Given the description of an element on the screen output the (x, y) to click on. 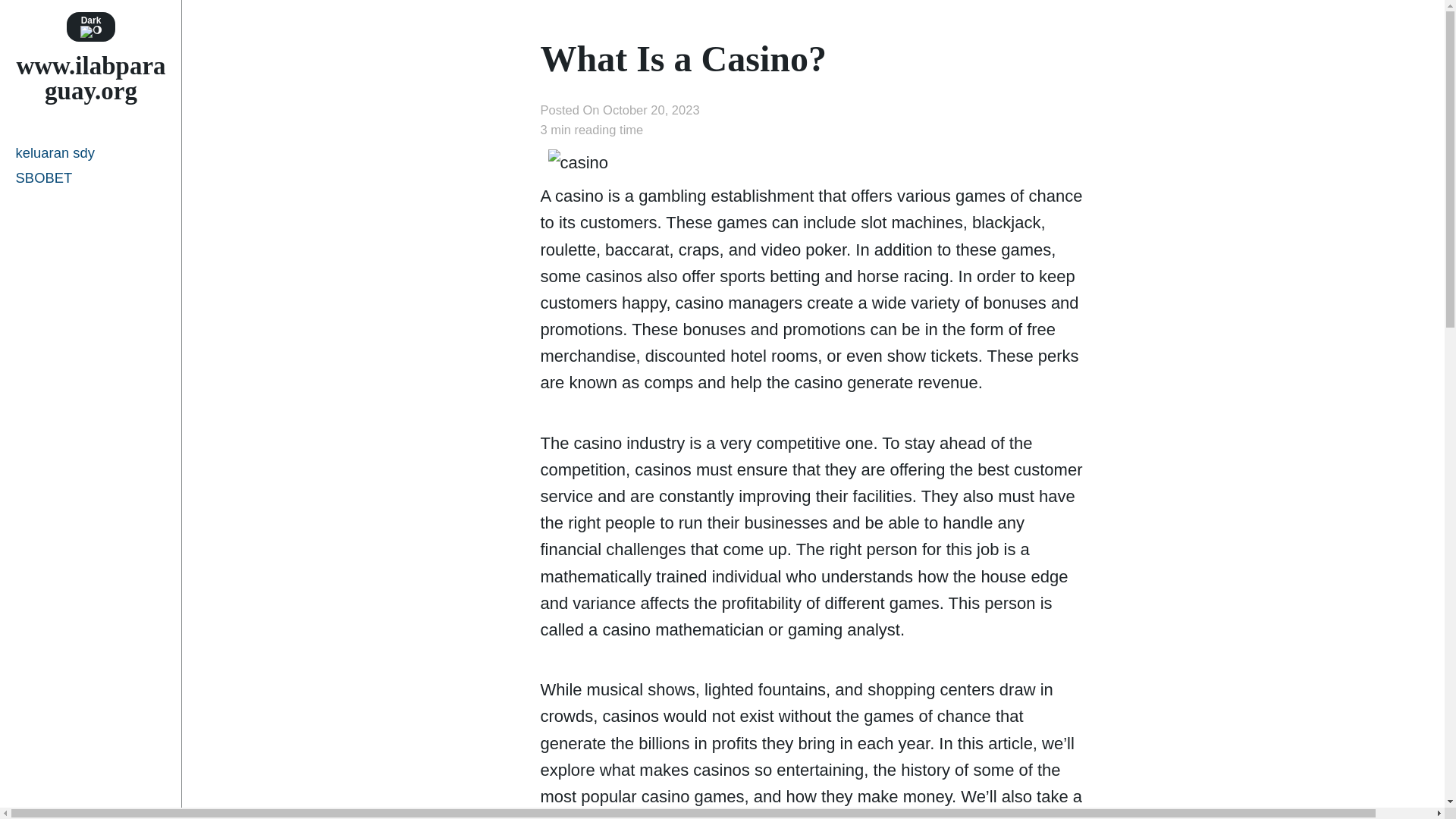
keluaran sdy (90, 152)
SBOBET (90, 177)
www.ilabparaguay.org (90, 78)
